Given the description of an element on the screen output the (x, y) to click on. 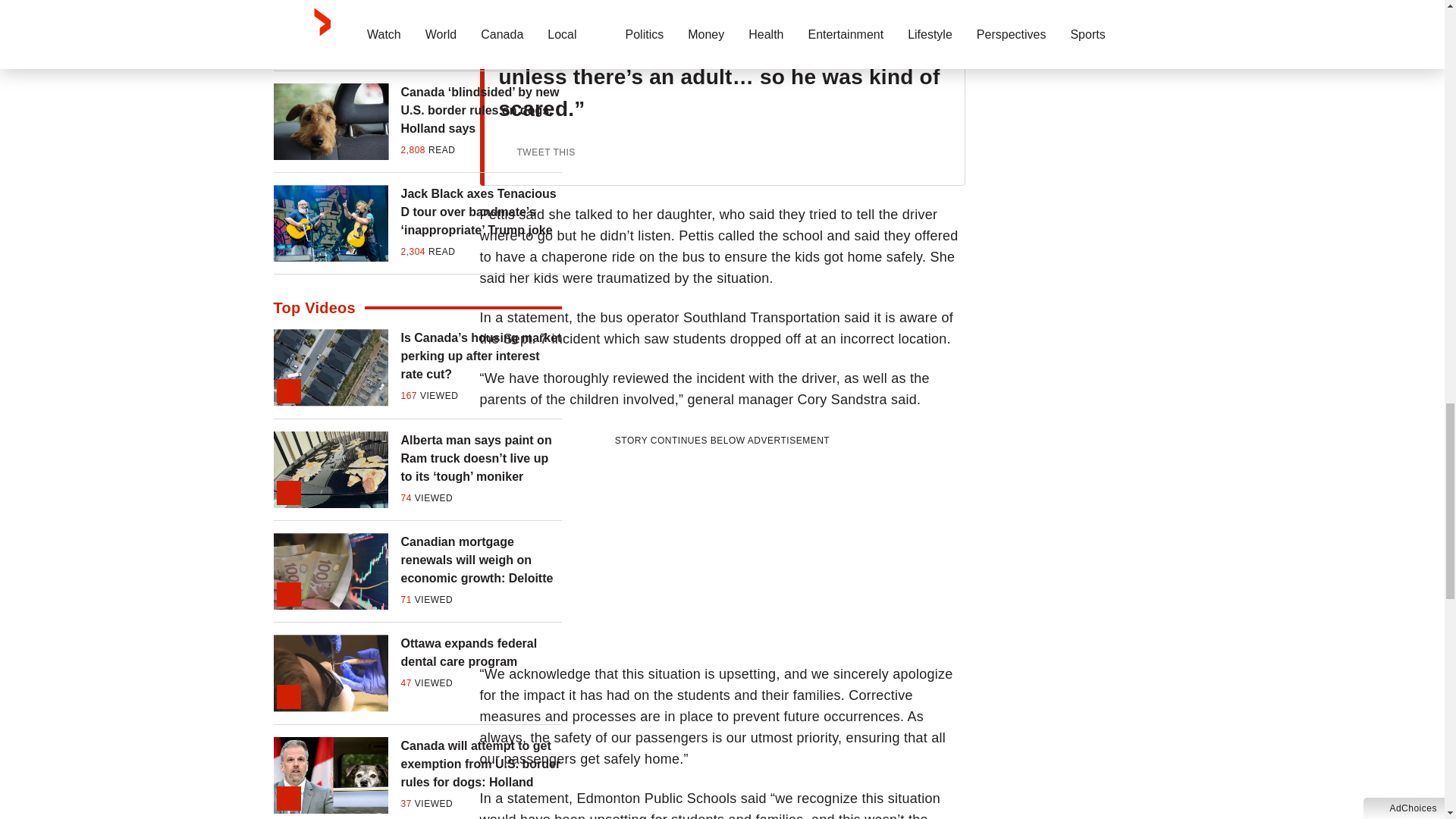
Ottawa expands federal dental care program (480, 652)
